Given the description of an element on the screen output the (x, y) to click on. 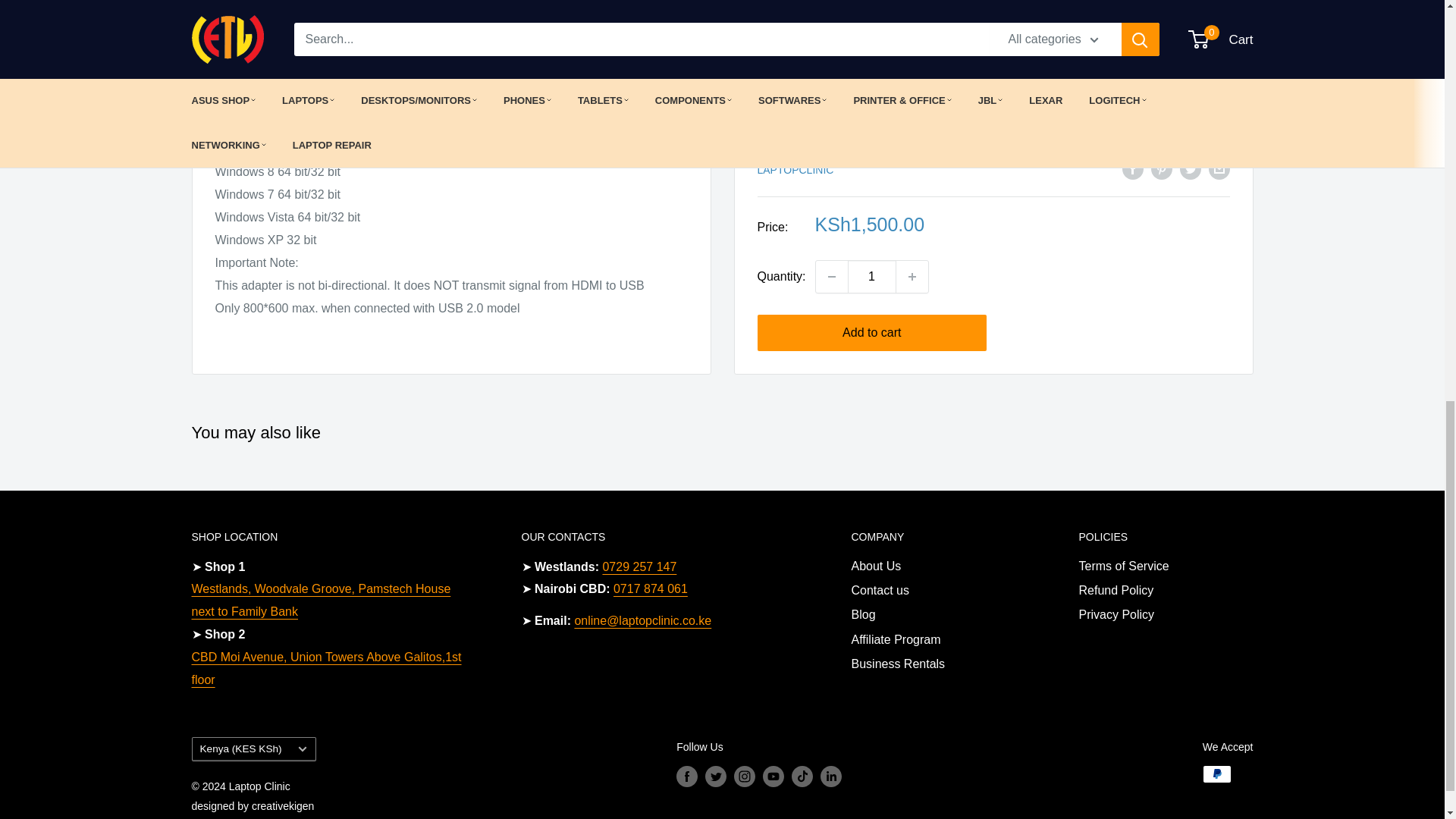
tel:0717 874 061 (649, 588)
tel:0729257147 (639, 566)
